Given the description of an element on the screen output the (x, y) to click on. 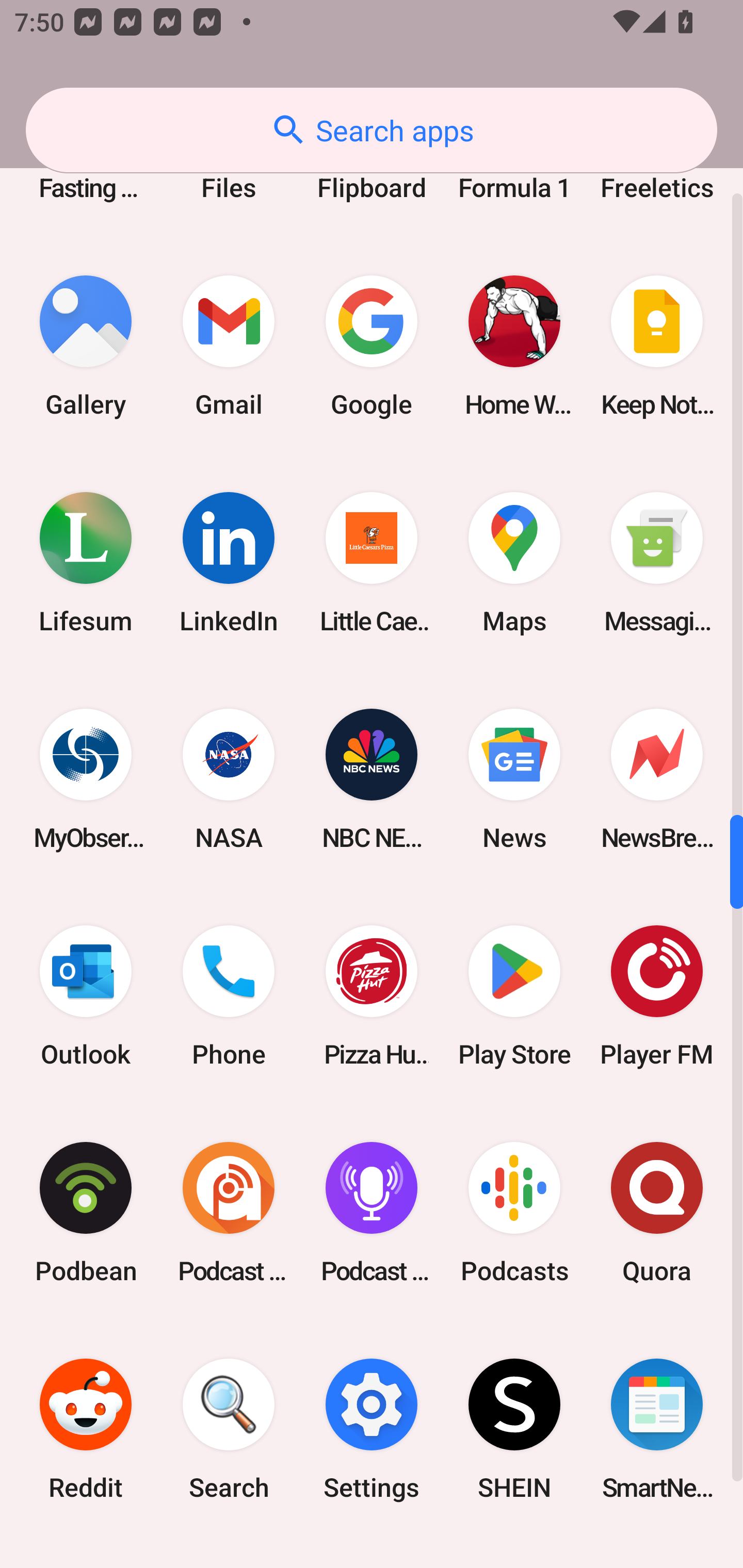
  Search apps (371, 130)
Gallery (85, 346)
Gmail (228, 346)
Google (371, 346)
Home Workout (514, 346)
Keep Notes (656, 346)
Lifesum (85, 562)
LinkedIn (228, 562)
Little Caesars Pizza (371, 562)
Maps (514, 562)
Messaging (656, 562)
MyObservatory (85, 779)
NASA (228, 779)
NBC NEWS (371, 779)
News (514, 779)
NewsBreak (656, 779)
Outlook (85, 995)
Phone (228, 995)
Pizza Hut HK & Macau (371, 995)
Play Store (514, 995)
Player FM (656, 995)
Podbean (85, 1211)
Podcast Addict (228, 1211)
Podcast Player (371, 1211)
Podcasts (514, 1211)
Quora (656, 1211)
Reddit (85, 1429)
Search (228, 1429)
Settings (371, 1429)
SHEIN (514, 1429)
SmartNews (656, 1429)
